Given the description of an element on the screen output the (x, y) to click on. 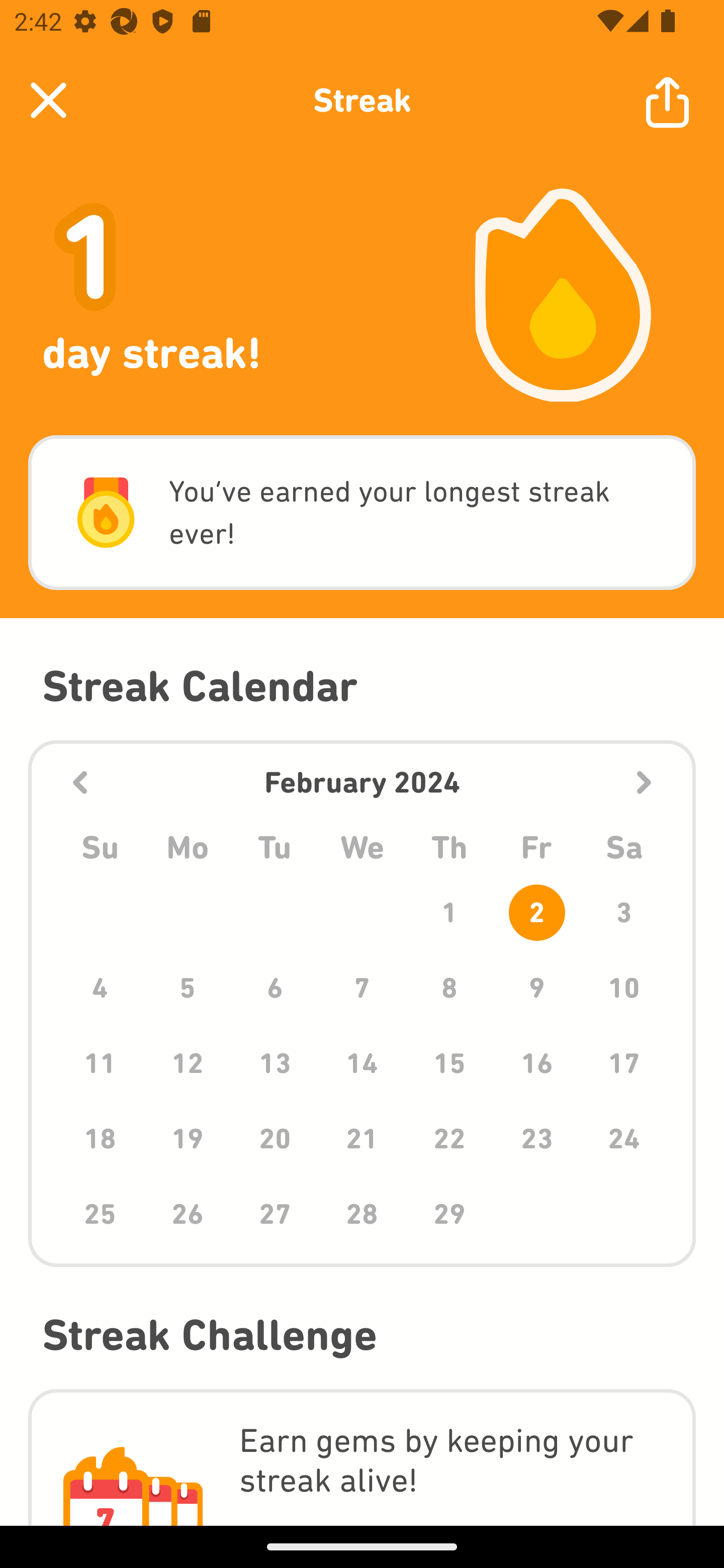
You’ve earned your longest streak ever! (361, 512)
